Given the description of an element on the screen output the (x, y) to click on. 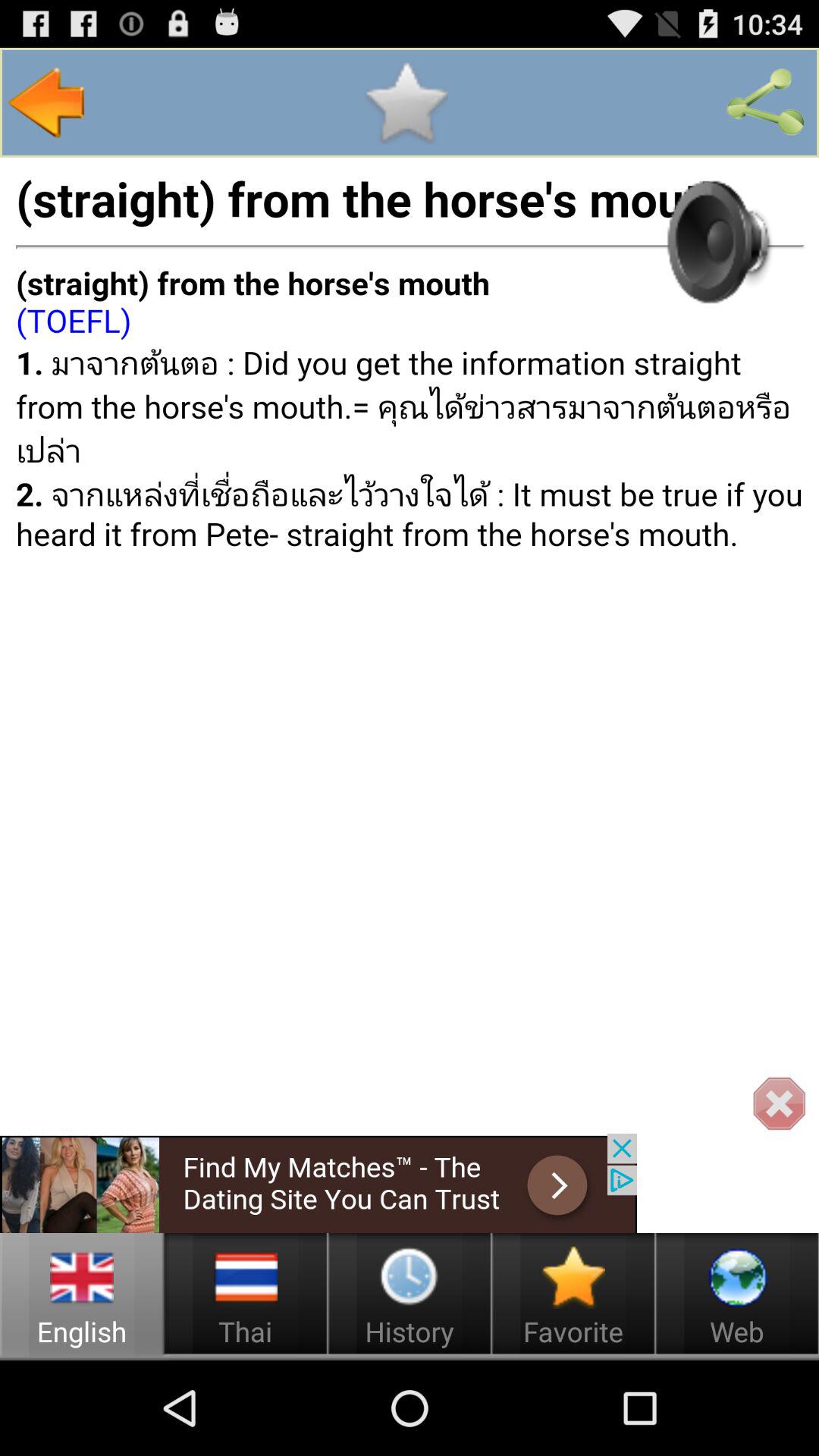
hear audio (715, 240)
